Given the description of an element on the screen output the (x, y) to click on. 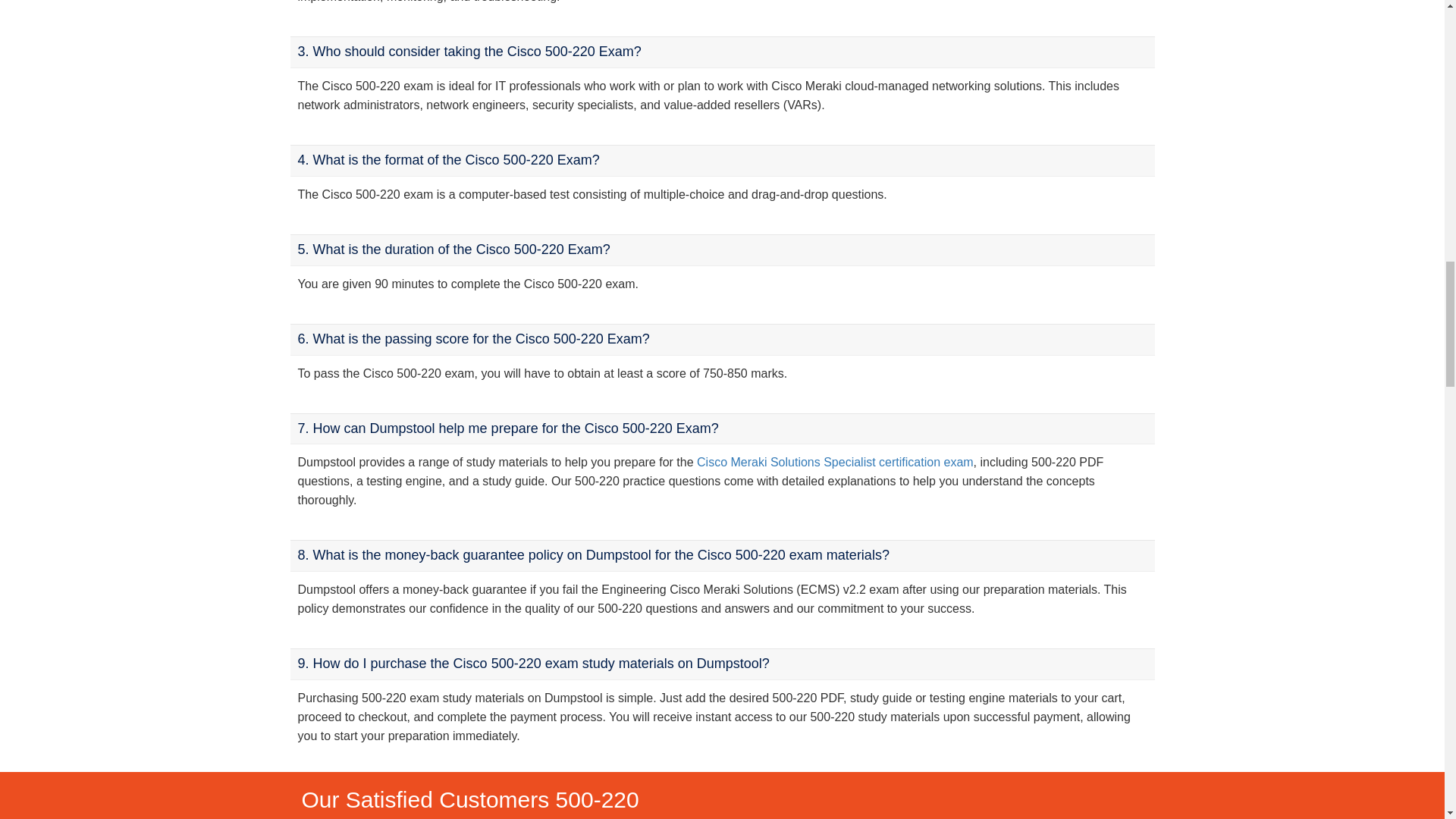
Cisco Meraki Solutions Specialist certification exam (835, 461)
